Given the description of an element on the screen output the (x, y) to click on. 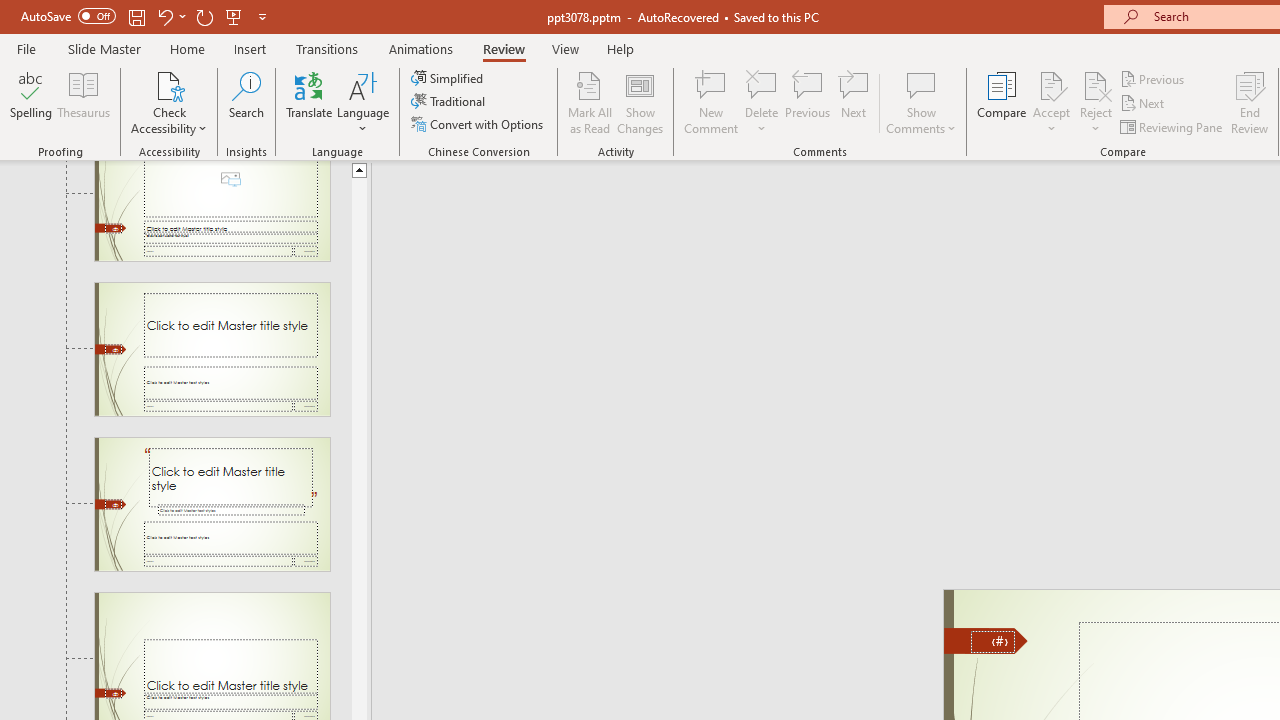
New Comment (711, 102)
Freeform 11 (985, 640)
Slide Title and Caption Layout: used by no slides (212, 349)
